Given the description of an element on the screen output the (x, y) to click on. 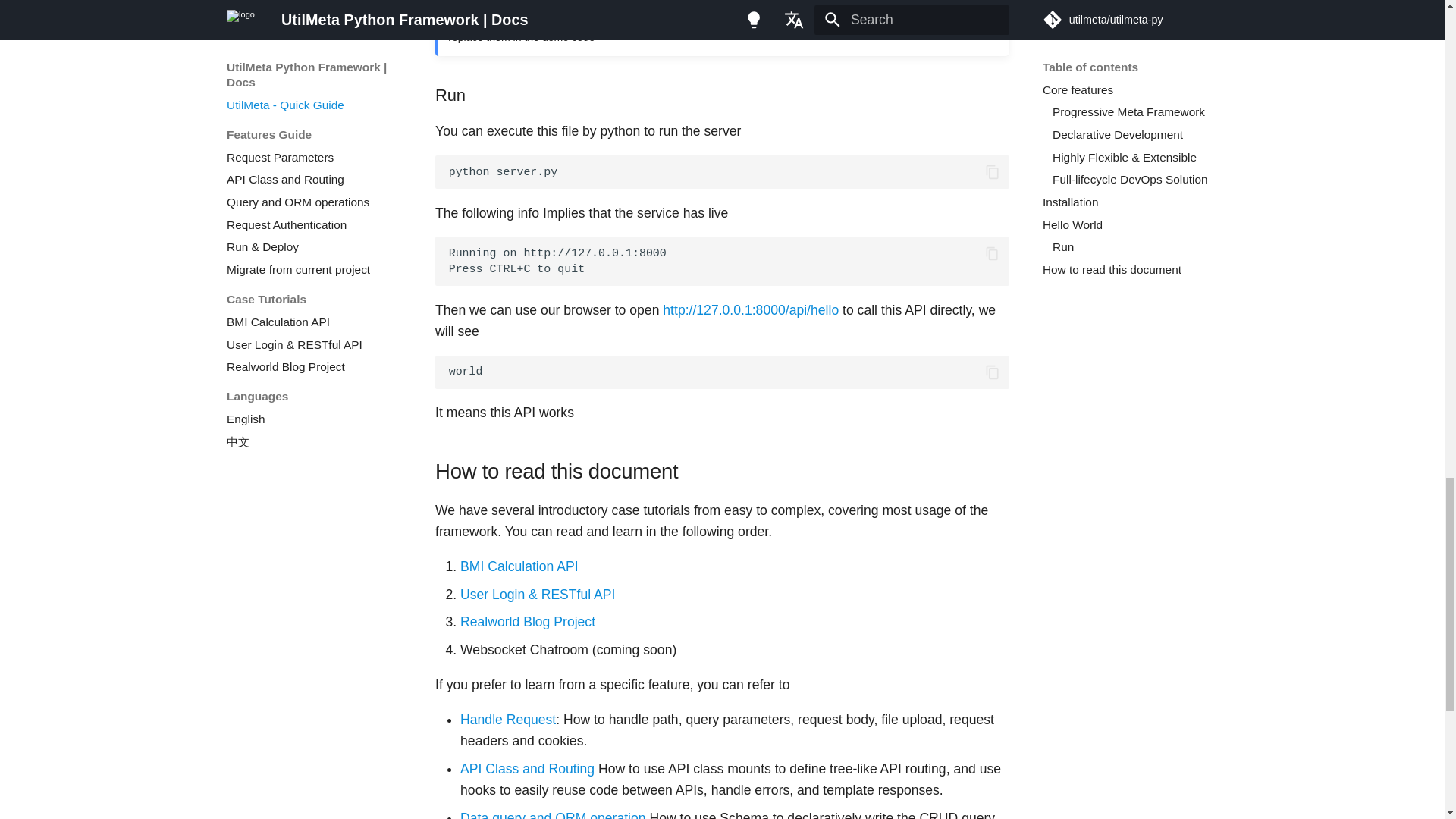
Copy to clipboard (992, 372)
Copy to clipboard (992, 171)
Copy to clipboard (992, 252)
